Given the description of an element on the screen output the (x, y) to click on. 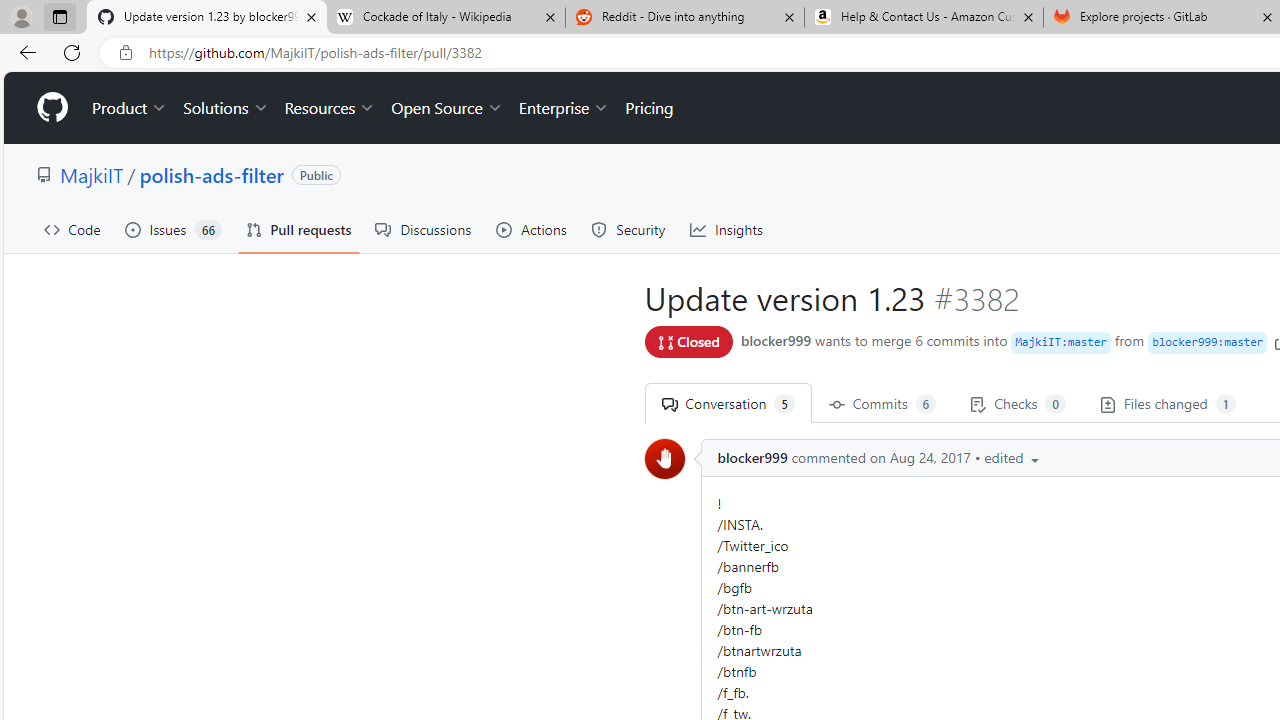
blocker999 : master (1208, 342)
Cockade of Italy - Wikipedia (445, 17)
 Conversation 5 (727, 403)
Product (130, 107)
 Checks 0 (1017, 403)
 Commits 6 (882, 403)
MajkiIT (92, 174)
Solutions (225, 107)
Insights (726, 229)
Issues 66 (173, 229)
Security (628, 229)
Resources (330, 107)
Actions (531, 229)
Actions (531, 229)
